Given the description of an element on the screen output the (x, y) to click on. 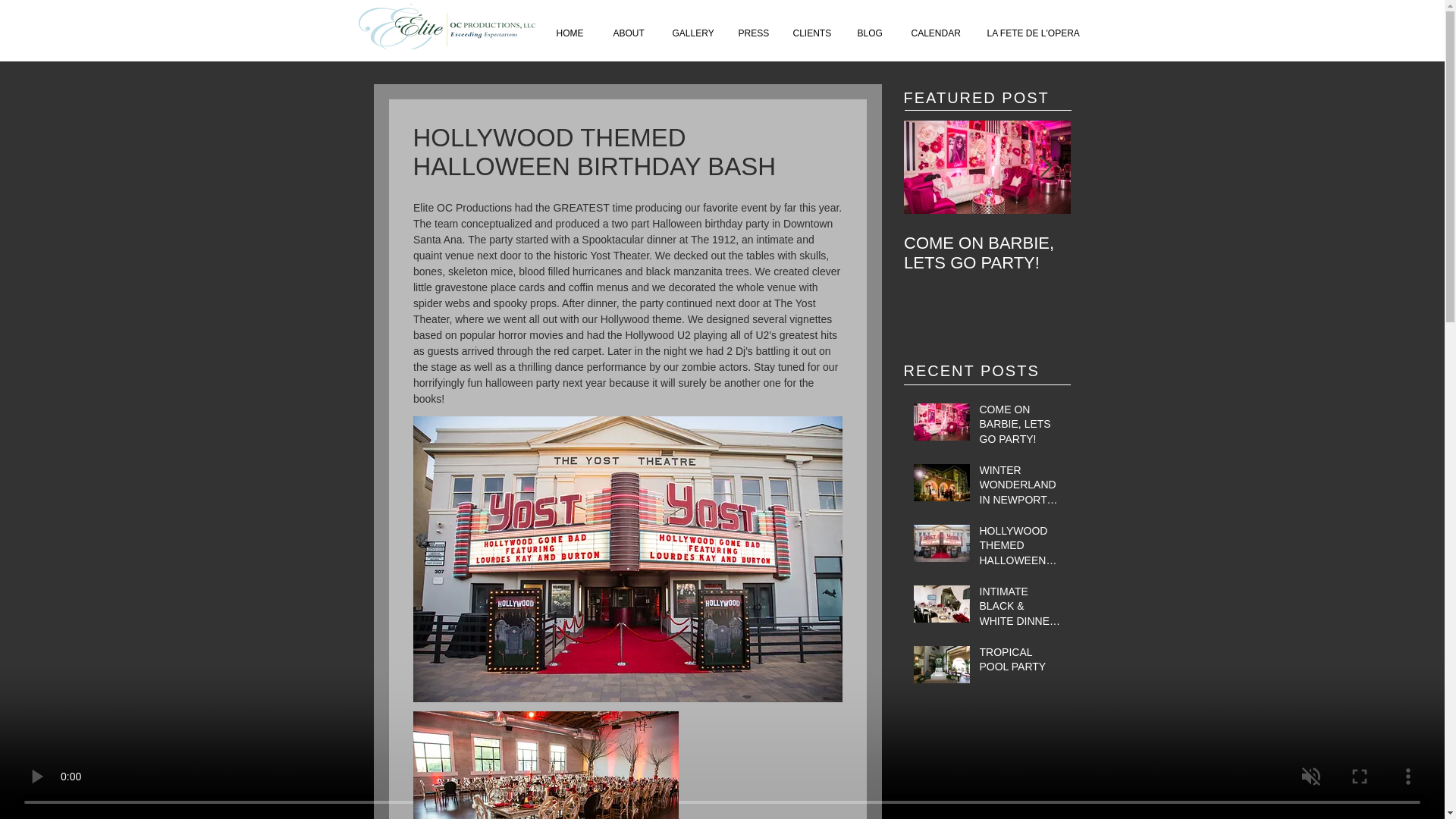
PRESS (753, 33)
HOLLYWOOD THEMED HALLOWEEN BIRTHDAY BASH (1020, 549)
ABOUT (631, 33)
WINTER WONDERLAND IN NEWPORT COAST (1153, 262)
CLIENTS (812, 33)
GALLERY (693, 33)
HOME (572, 33)
COME ON BARBIE, LETS GO PARTY! (987, 252)
TROPICAL POOL PARTY (1020, 662)
LA FETE DE L'OPERA (1030, 33)
